Given the description of an element on the screen output the (x, y) to click on. 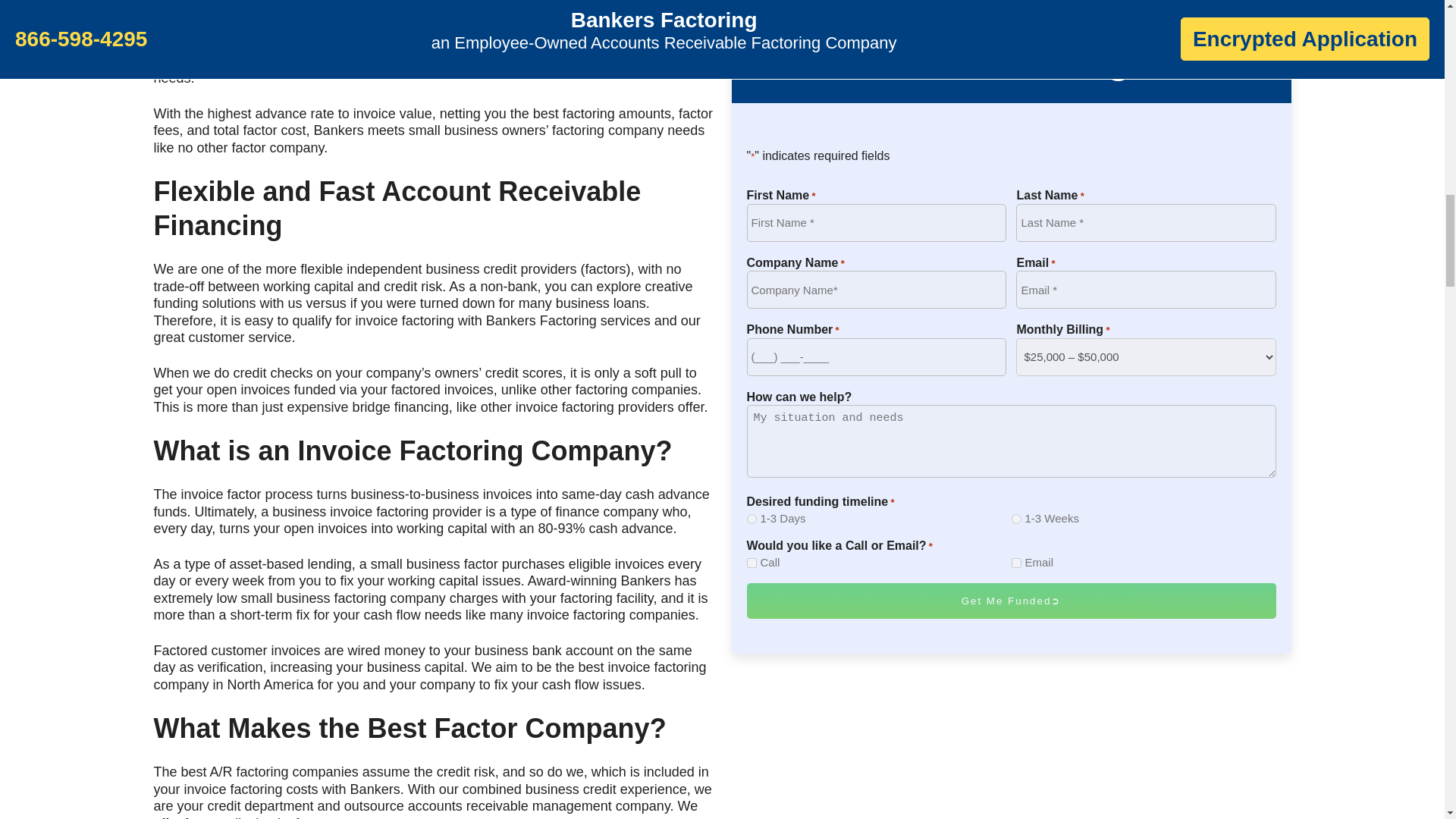
Call (750, 153)
1-3 Weeks (1016, 110)
Email (1016, 153)
1-3 Days (750, 110)
